Given the description of an element on the screen output the (x, y) to click on. 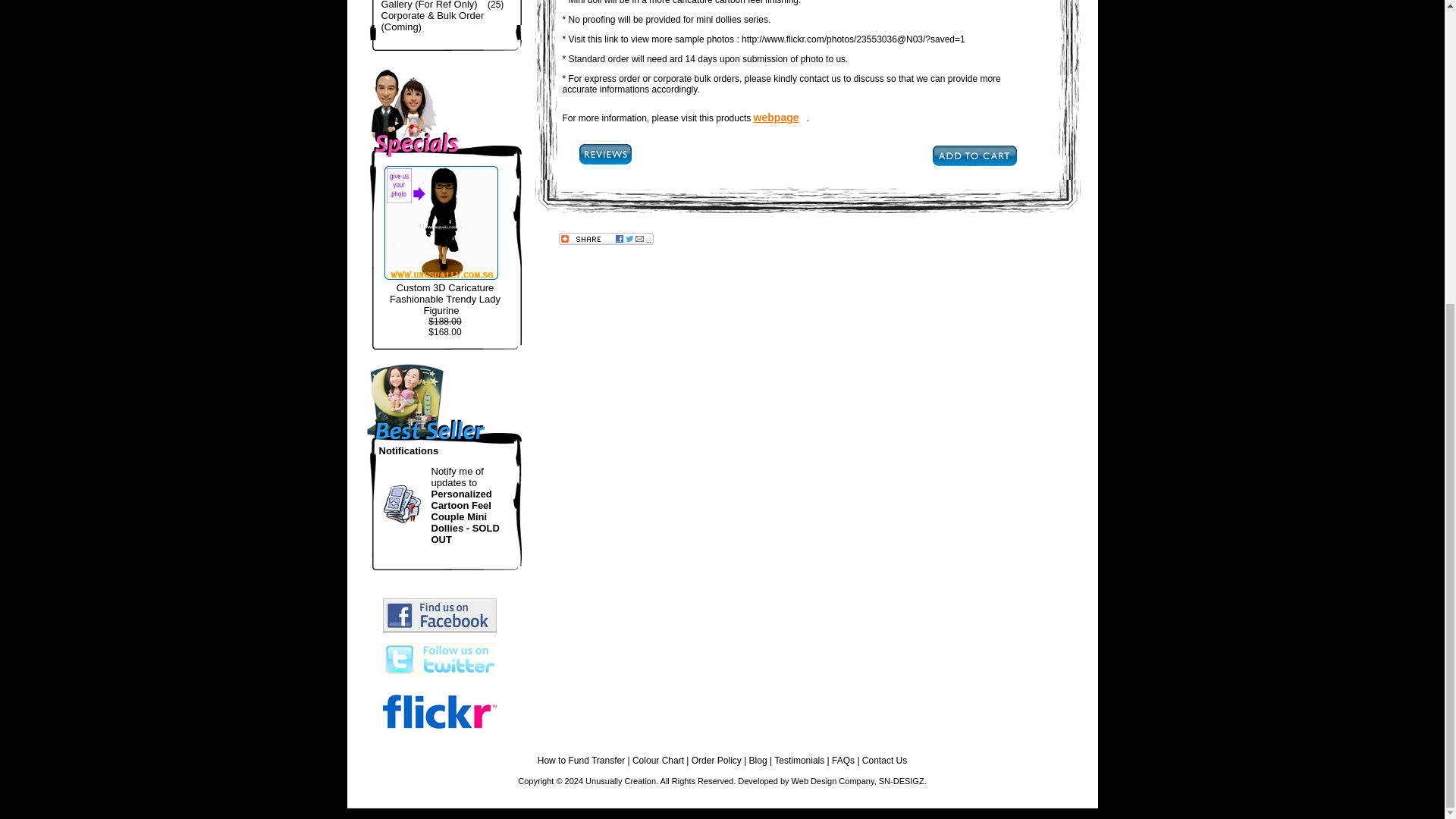
webpage (780, 117)
 Notifications  (400, 504)
Custom 3D Caricature Fashionable Trendy Lady Figurine (445, 298)
 Add to Cart  (973, 155)
 Custom 3D Caricature Fashionable Trendy Lady Figurine  (440, 223)
